Given the description of an element on the screen output the (x, y) to click on. 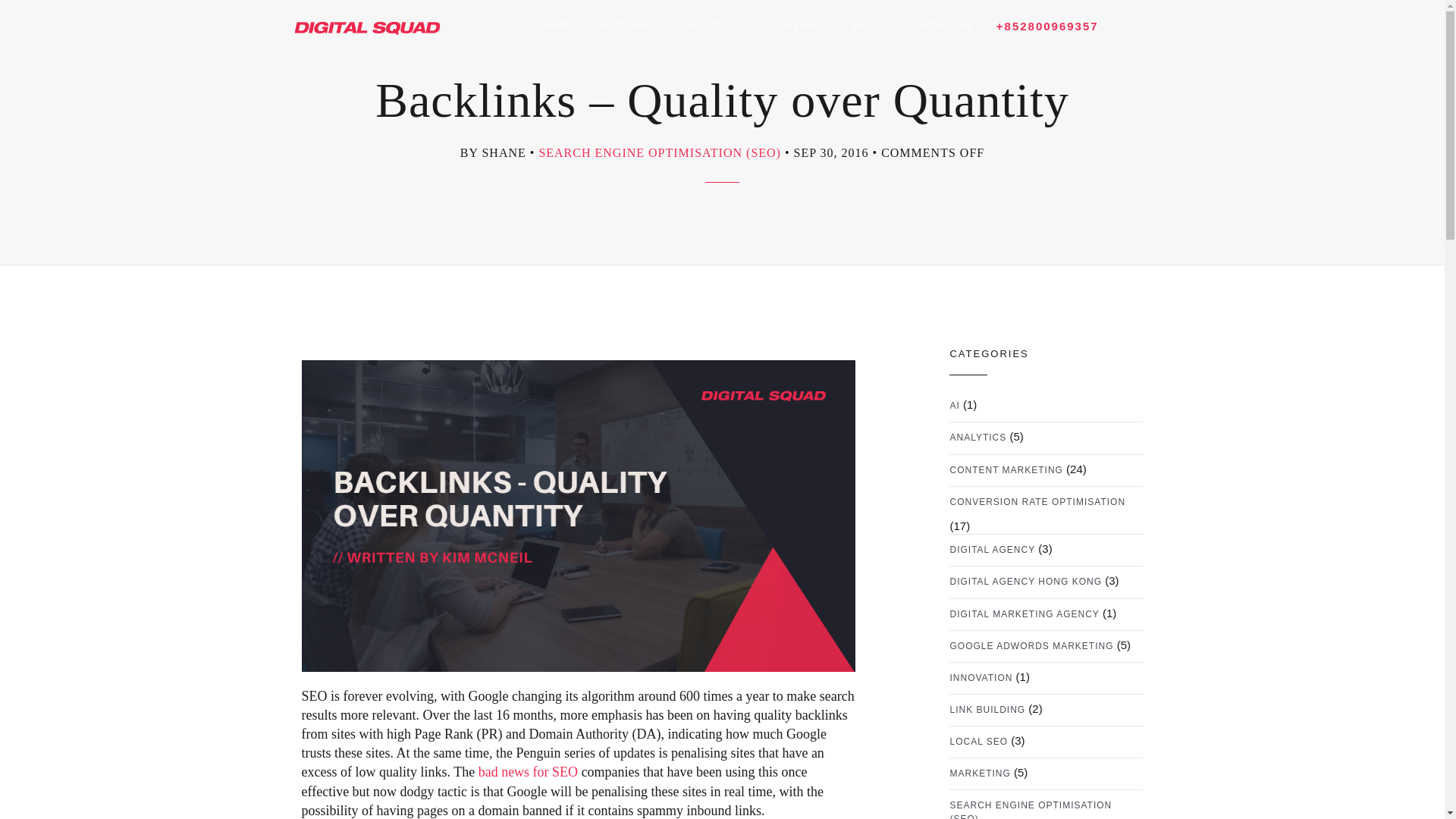
ABOUT (869, 26)
CASE STUDIES (719, 26)
CONTACT US (941, 26)
SOLUTIONS (624, 26)
INSIGHTS (806, 26)
HOME (554, 26)
